Given the description of an element on the screen output the (x, y) to click on. 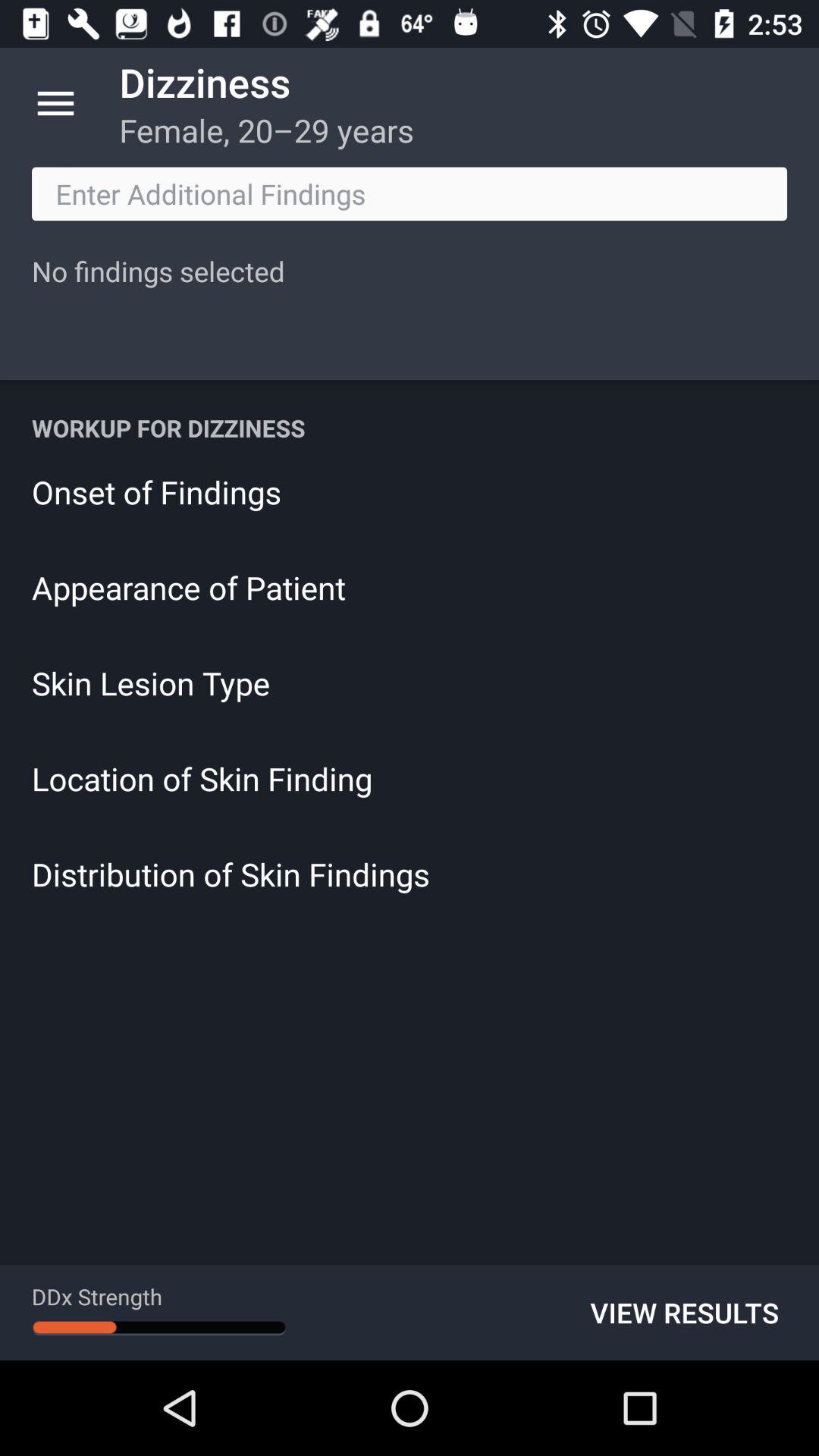
select the item below distribution of skin icon (684, 1312)
